Given the description of an element on the screen output the (x, y) to click on. 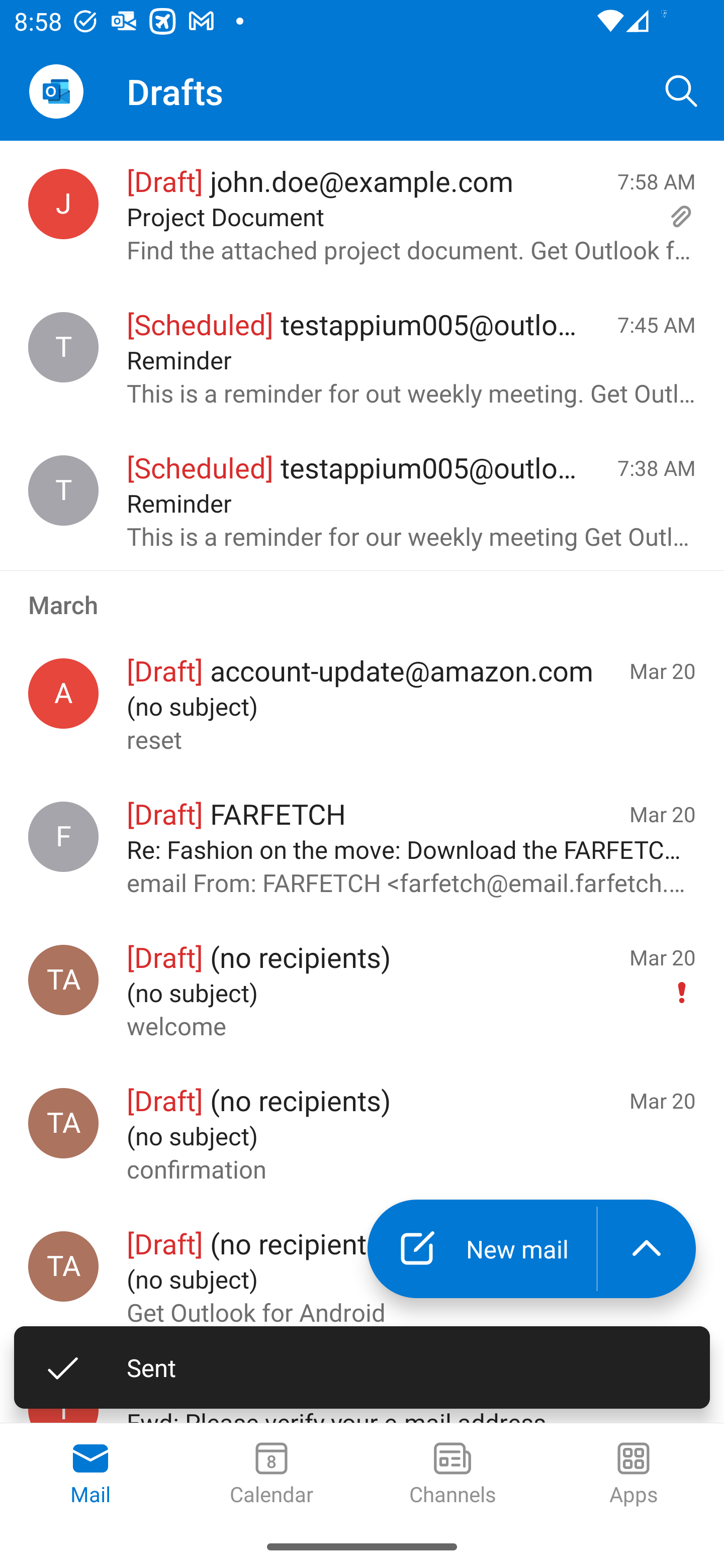
Search, ,  (681, 90)
Open Navigation Drawer (55, 91)
john.doe@example.com, testappium002@outlook.com (63, 204)
account-update@amazon.com (63, 693)
FARFETCH, testappium002@outlook.com (63, 836)
Test Appium, testappium002@outlook.com (63, 979)
Test Appium, testappium002@outlook.com (63, 1123)
New mail (481, 1248)
launch the extended action menu (646, 1248)
Test Appium, testappium002@outlook.com (63, 1265)
